Given the description of an element on the screen output the (x, y) to click on. 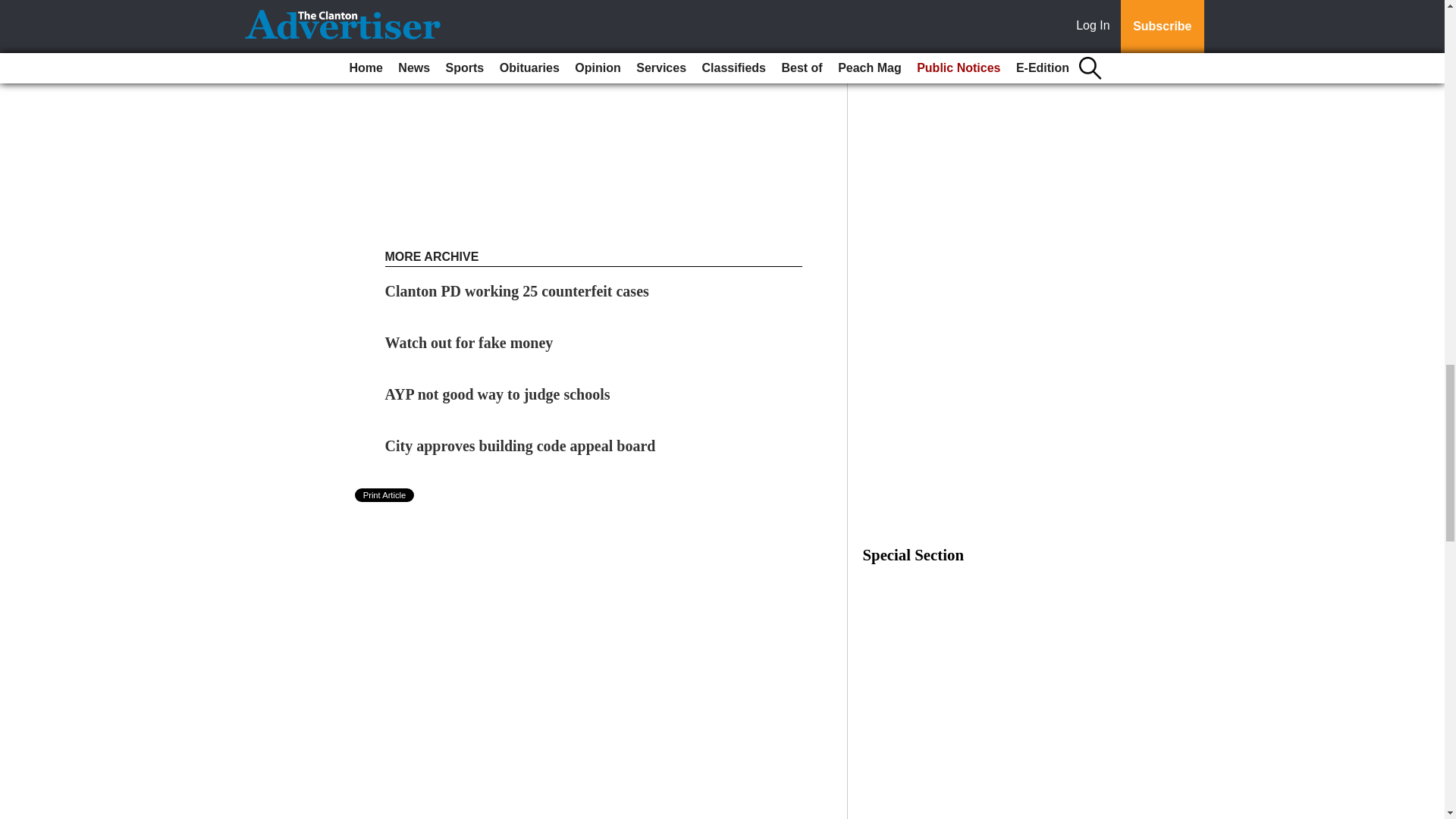
Clanton PD working 25 counterfeit cases (517, 290)
Clanton PD working 25 counterfeit cases (517, 290)
AYP not good way to judge schools (497, 393)
Print Article (384, 495)
Watch out for fake money (469, 342)
City approves building code appeal board (520, 445)
AYP not good way to judge schools (497, 393)
City approves building code  appeal board (520, 445)
Watch out for fake money (469, 342)
